Given the description of an element on the screen output the (x, y) to click on. 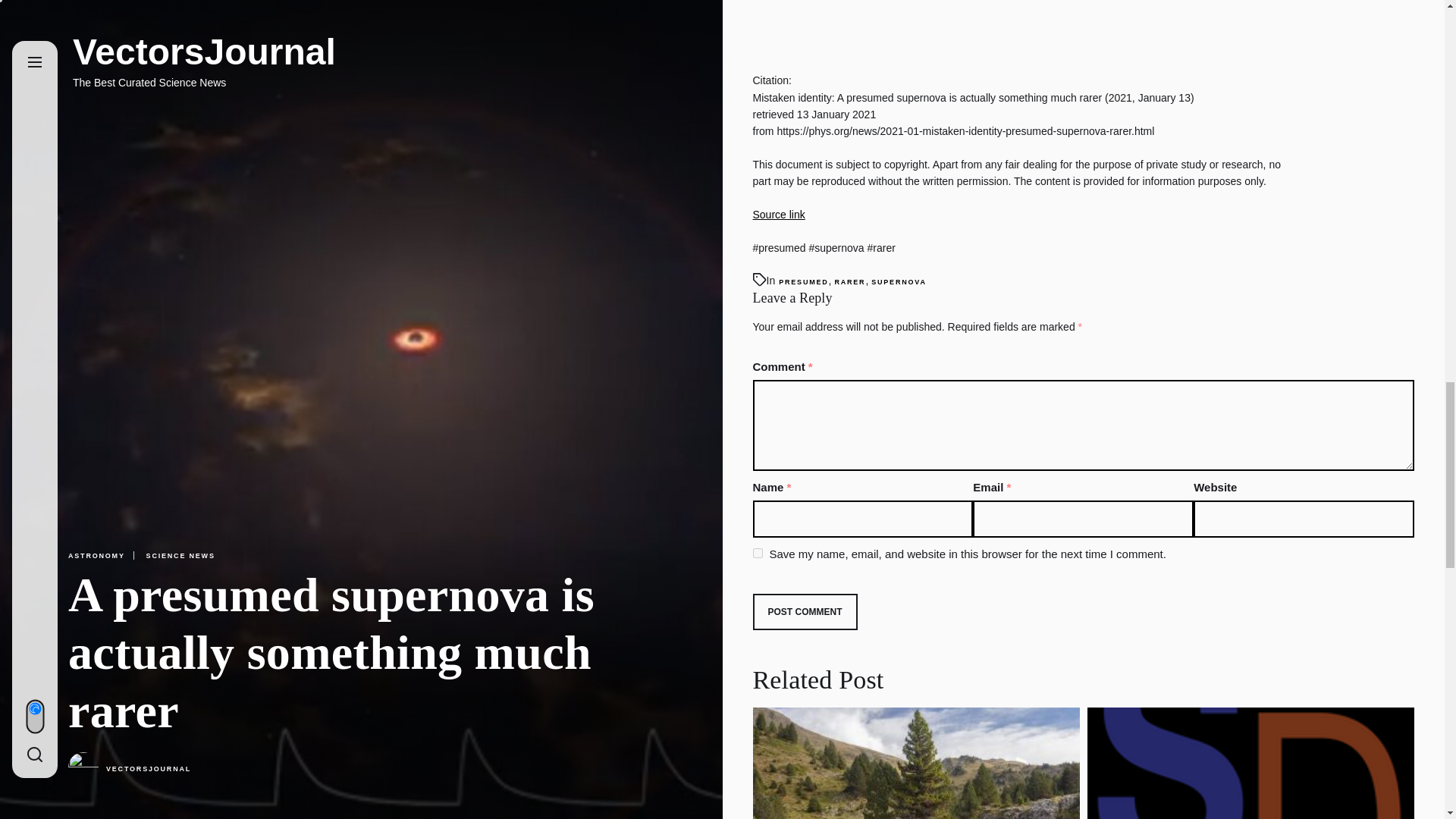
yes (756, 552)
Post Comment (804, 611)
SUPERNOVA (898, 281)
RARER (849, 281)
Source link (778, 214)
PRESUMED (803, 281)
Post Comment (804, 611)
